Given the description of an element on the screen output the (x, y) to click on. 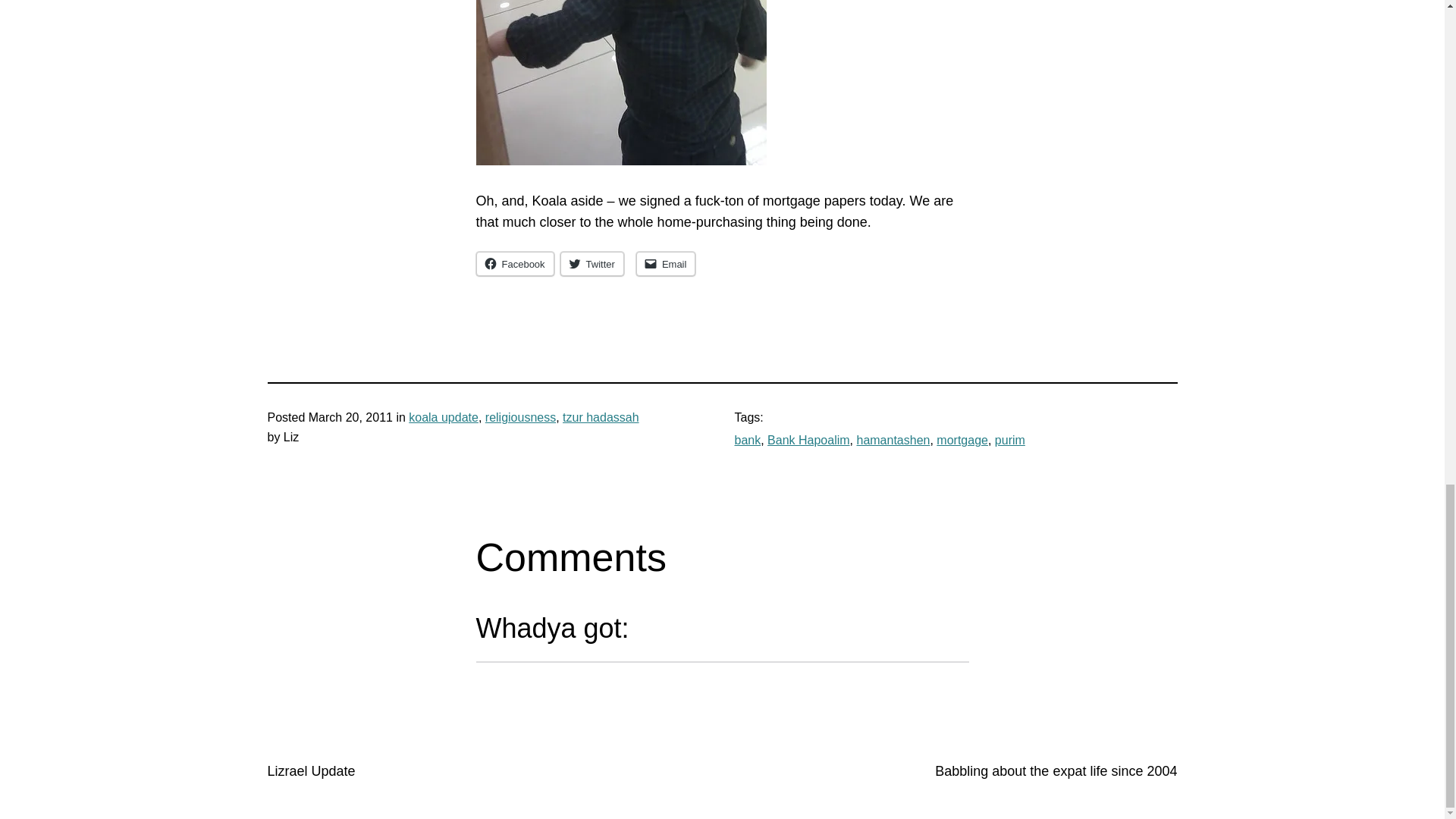
hamantashen (893, 440)
Twitter (592, 263)
Facebook (515, 263)
Bank Hapoalim (808, 440)
Banking it up. (621, 82)
mortgage (962, 440)
Click to share on Twitter (592, 263)
tzur hadassah (600, 417)
koala update (444, 417)
Click to email a link to a friend (665, 263)
religiousness (520, 417)
Lizrael Update (310, 770)
bank (746, 440)
Click to share on Facebook (515, 263)
